Given the description of an element on the screen output the (x, y) to click on. 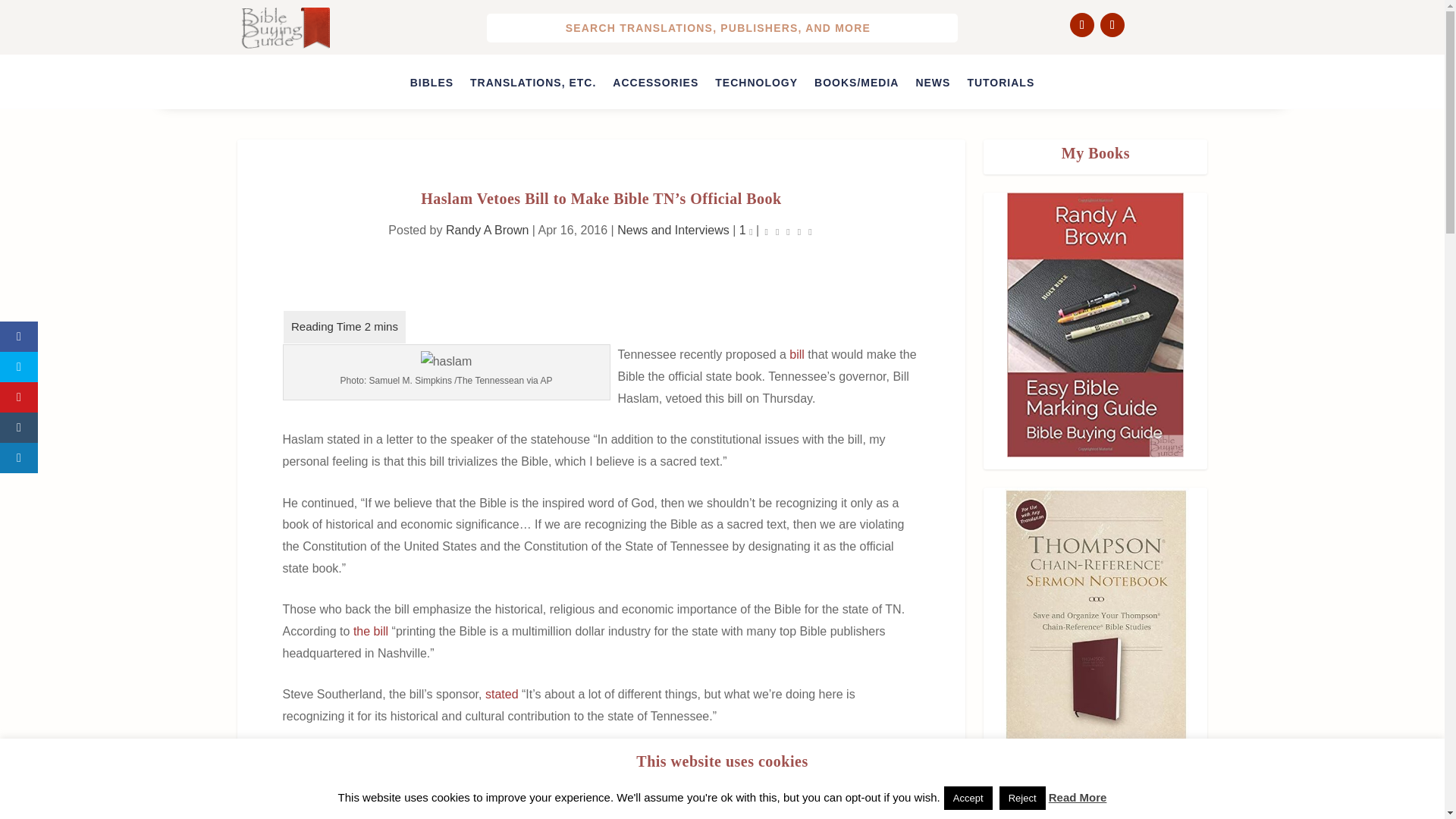
ACCESSORIES (655, 85)
BIBLES (431, 85)
stated (431, 779)
bill (798, 354)
Posts by Randy A Brown (486, 229)
TECHNOLOGY (755, 85)
stated  (502, 694)
Randy A Brown (486, 229)
Follow on Youtube (1112, 24)
Follow on Facebook (1082, 24)
